Given the description of an element on the screen output the (x, y) to click on. 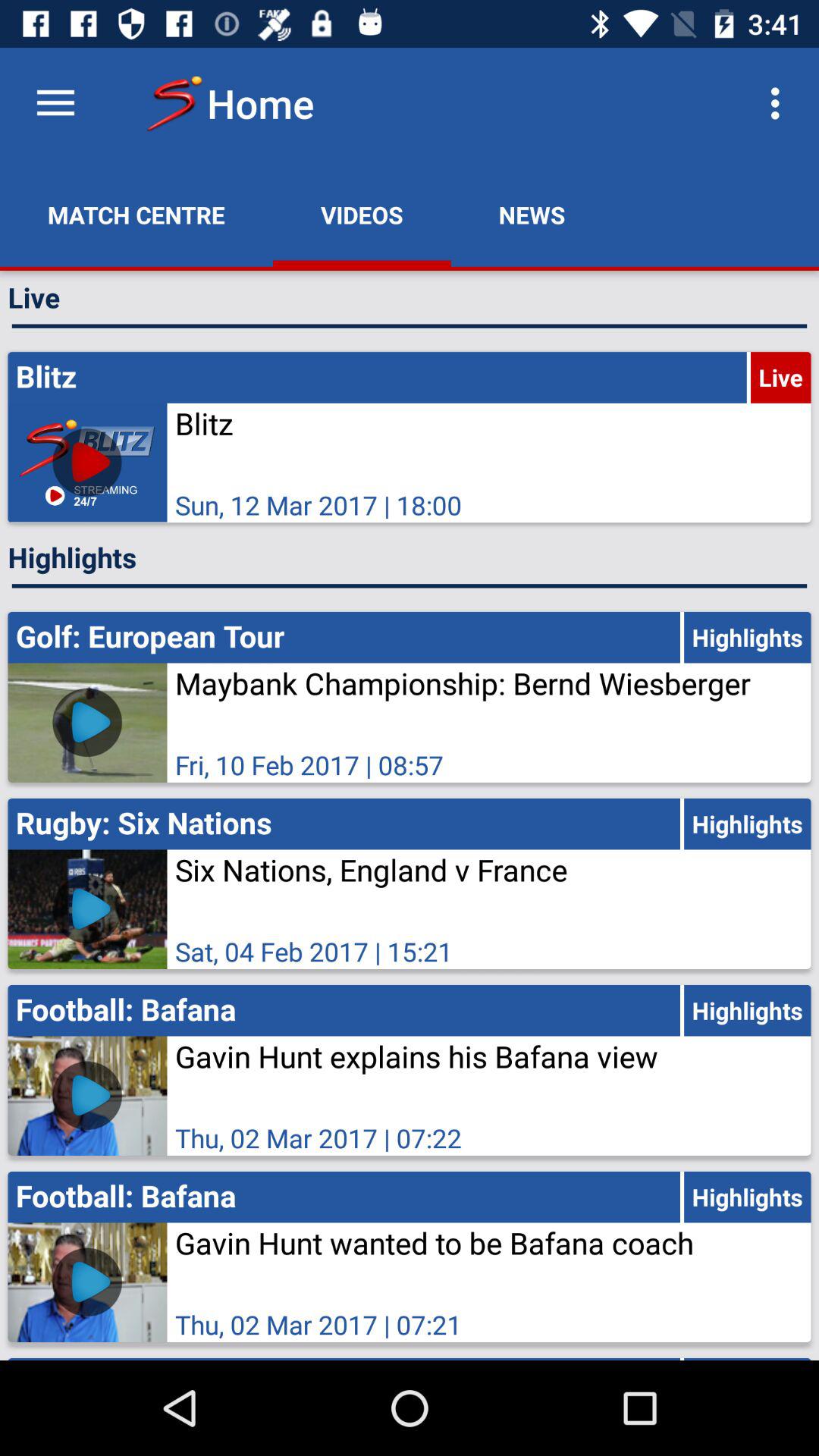
click the app to the right of the news (779, 103)
